Given the description of an element on the screen output the (x, y) to click on. 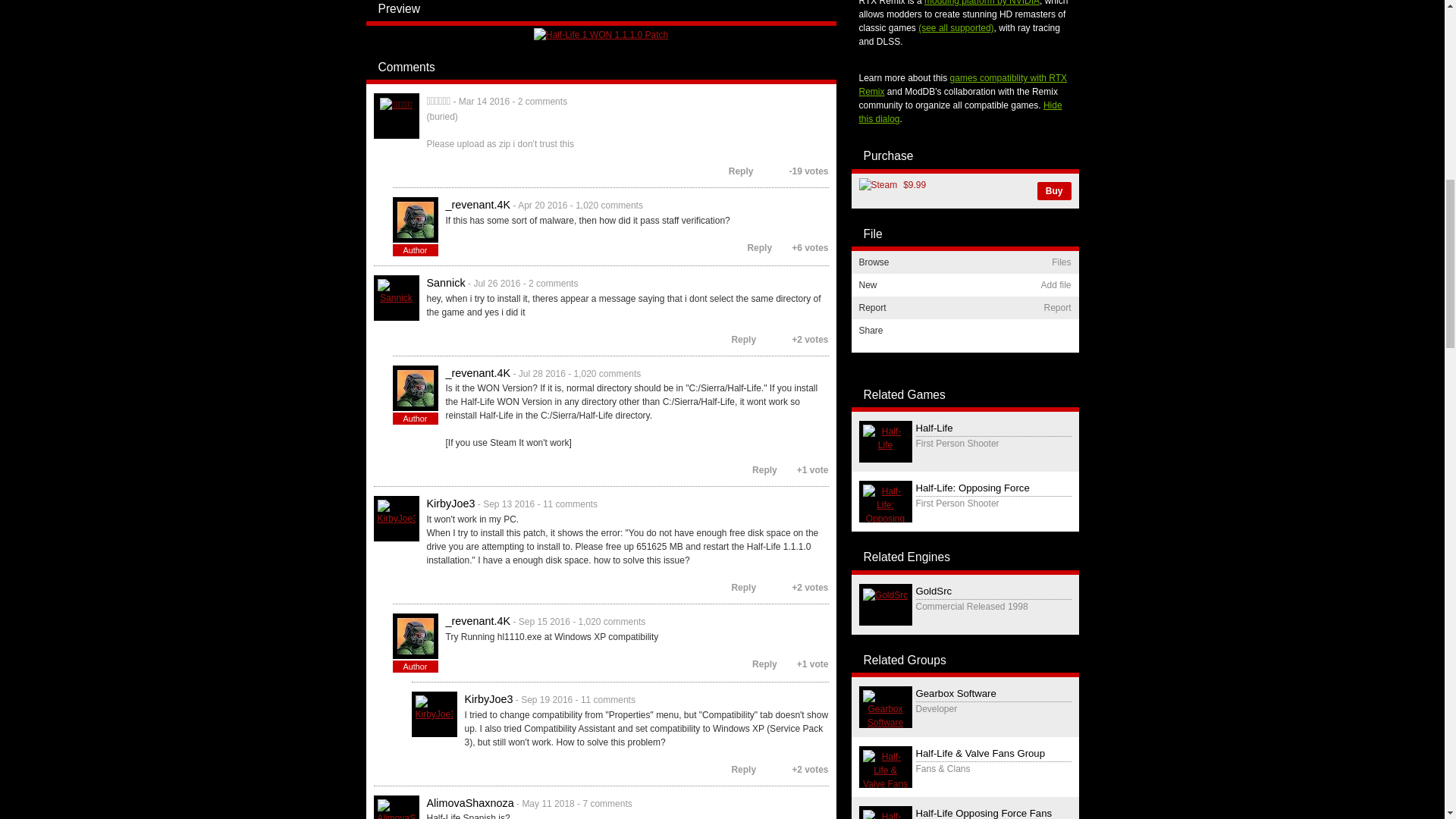
Half-Life 1 WON 1.1.1.0 Patch (601, 33)
